Given the description of an element on the screen output the (x, y) to click on. 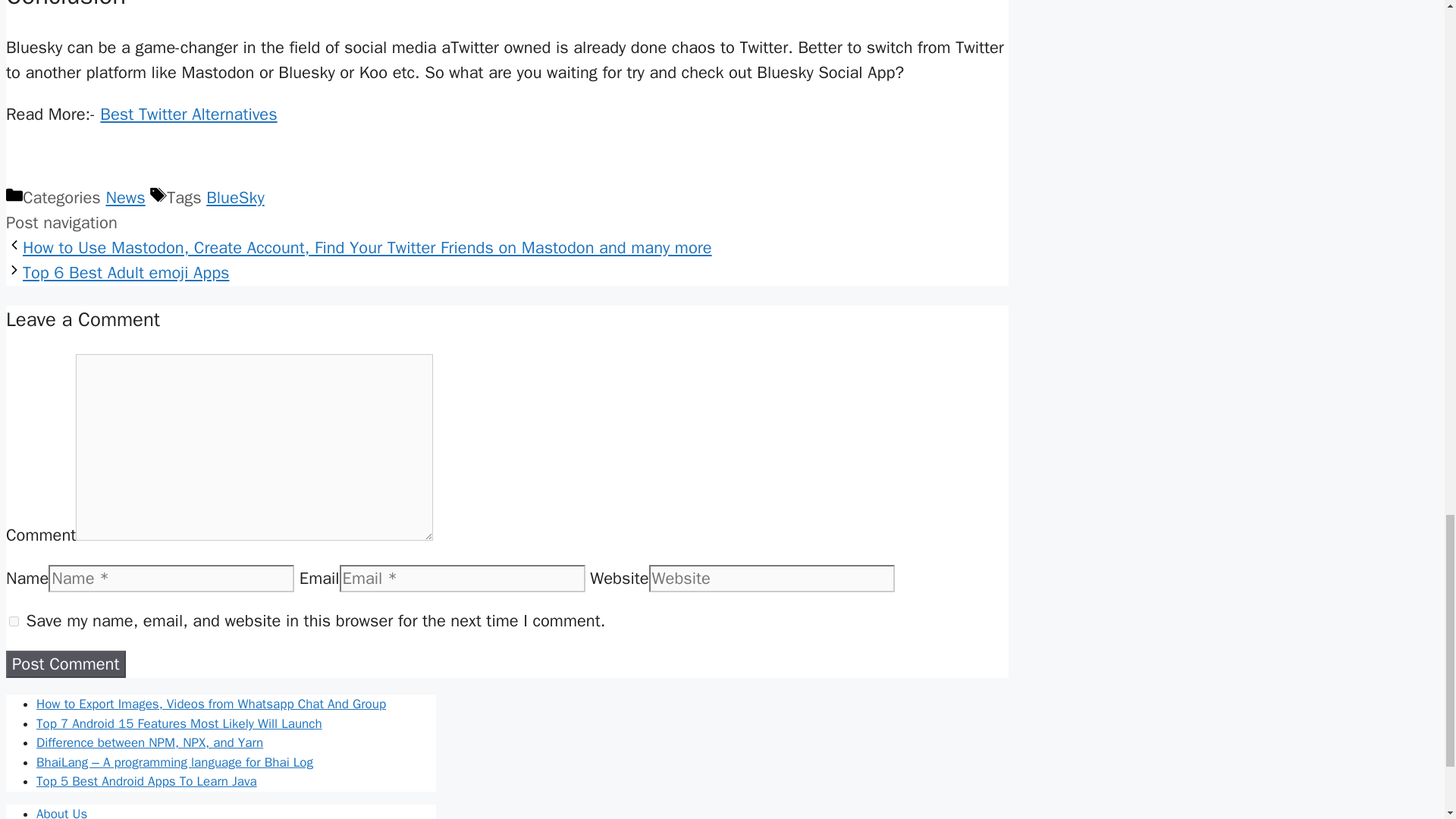
Top 5 Best Android Apps To Learn Java (146, 781)
BlueSky (234, 197)
Post Comment (65, 664)
Top 7 Android 15 Features Most Likely Will Launch (178, 723)
Best Twitter Alternatives (188, 114)
About Us (61, 812)
Top 6 Best Adult emoji Apps (125, 272)
News (124, 197)
yes (13, 621)
How to Export Images, Videos from Whatsapp Chat And Group (210, 703)
Post Comment (65, 664)
Previous (367, 247)
Difference between NPM, NPX, and Yarn (149, 742)
Next (125, 272)
